Given the description of an element on the screen output the (x, y) to click on. 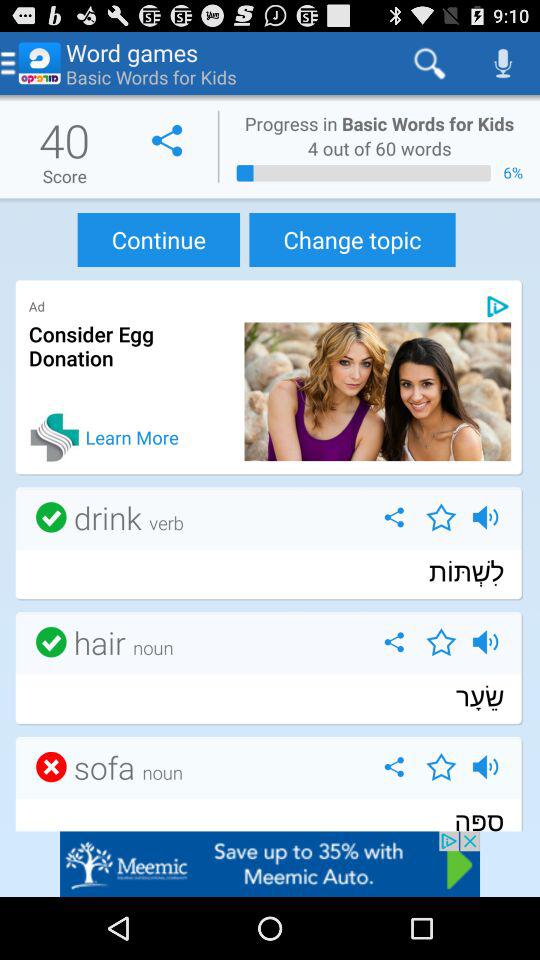
learn more (54, 437)
